Given the description of an element on the screen output the (x, y) to click on. 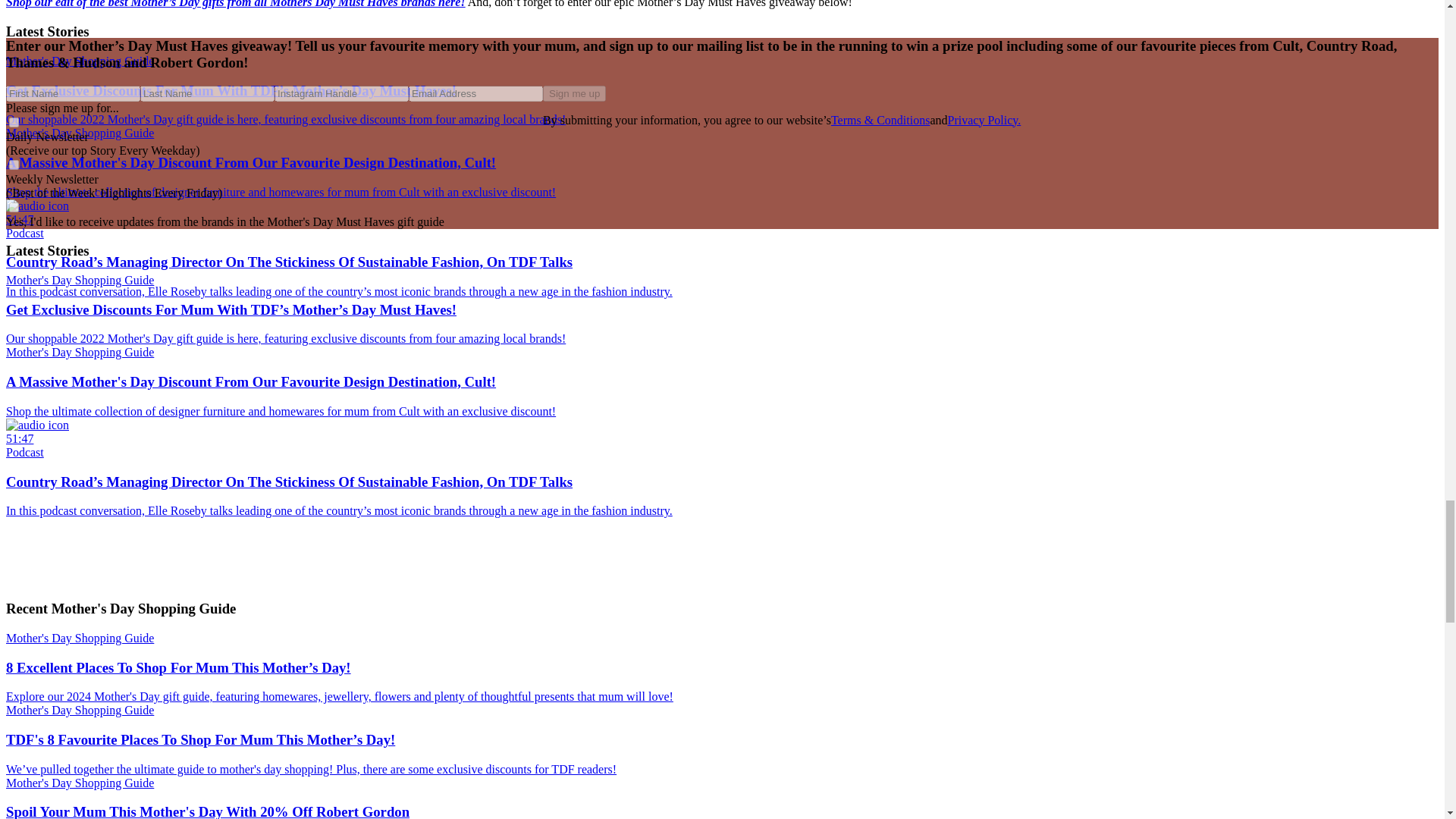
on (13, 207)
on (13, 164)
on (13, 122)
